Given the description of an element on the screen output the (x, y) to click on. 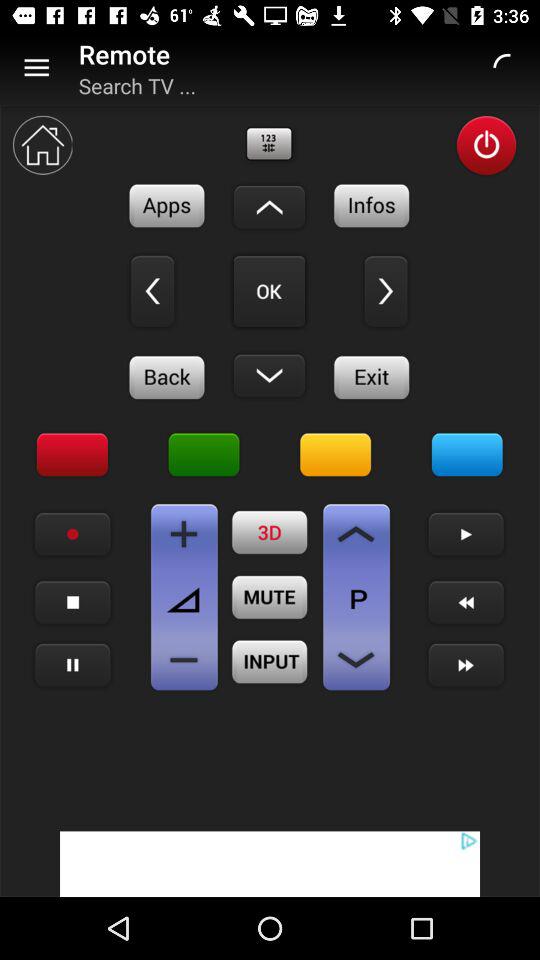
back (167, 377)
